Given the description of an element on the screen output the (x, y) to click on. 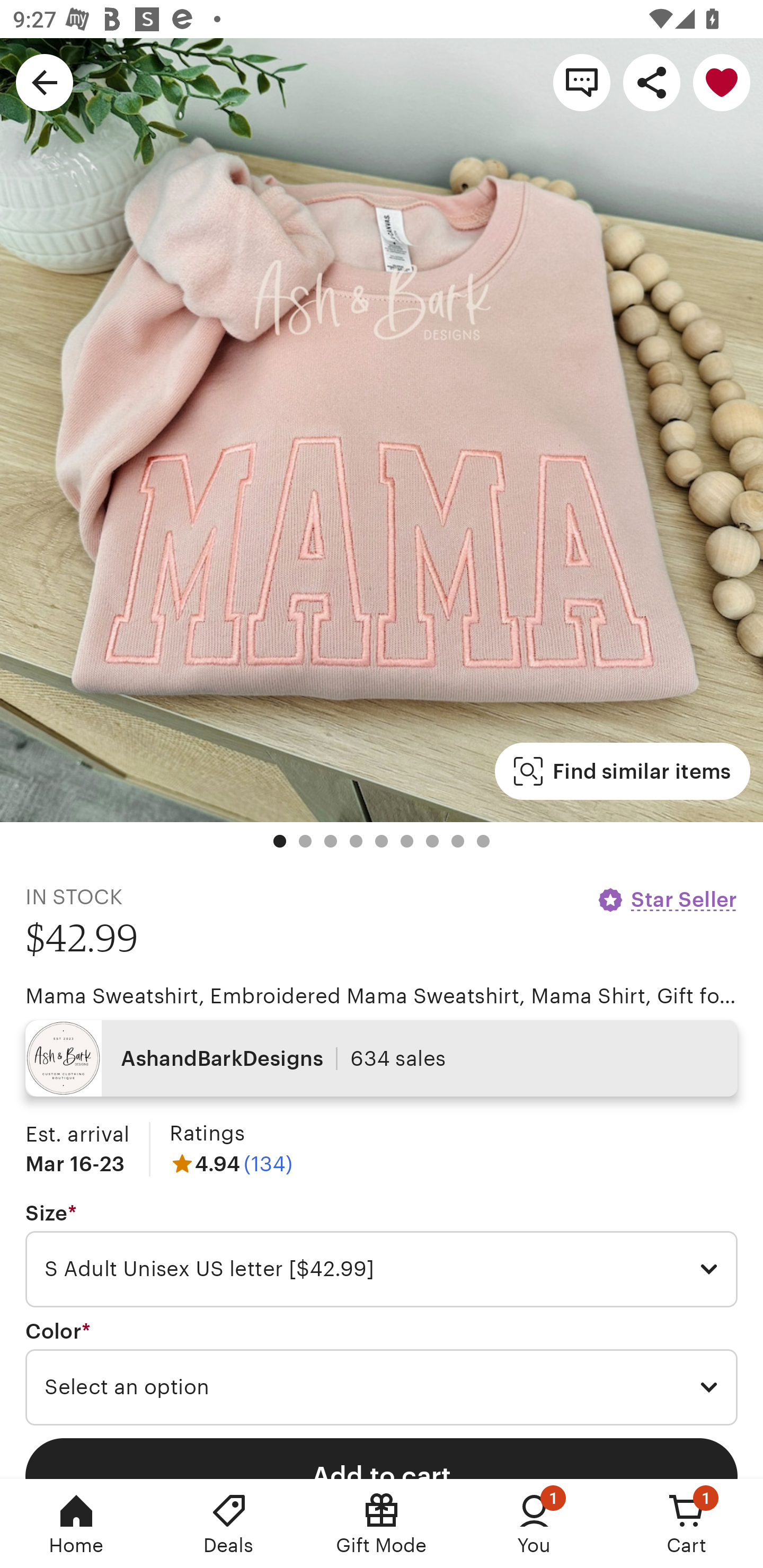
Navigate up (44, 81)
Contact shop (581, 81)
Share (651, 81)
Find similar items (622, 771)
Star Seller (666, 899)
AshandBarkDesigns 634 sales (381, 1058)
Ratings (206, 1133)
4.94 (134) (230, 1163)
Size * Required S Adult Unisex US letter [$42.99] (381, 1254)
S Adult Unisex US letter [$42.99] (381, 1268)
Color * Required Select an option (381, 1372)
Select an option (381, 1386)
Deals (228, 1523)
Gift Mode (381, 1523)
You, 1 new notification You (533, 1523)
Cart, 1 new notification Cart (686, 1523)
